Given the description of an element on the screen output the (x, y) to click on. 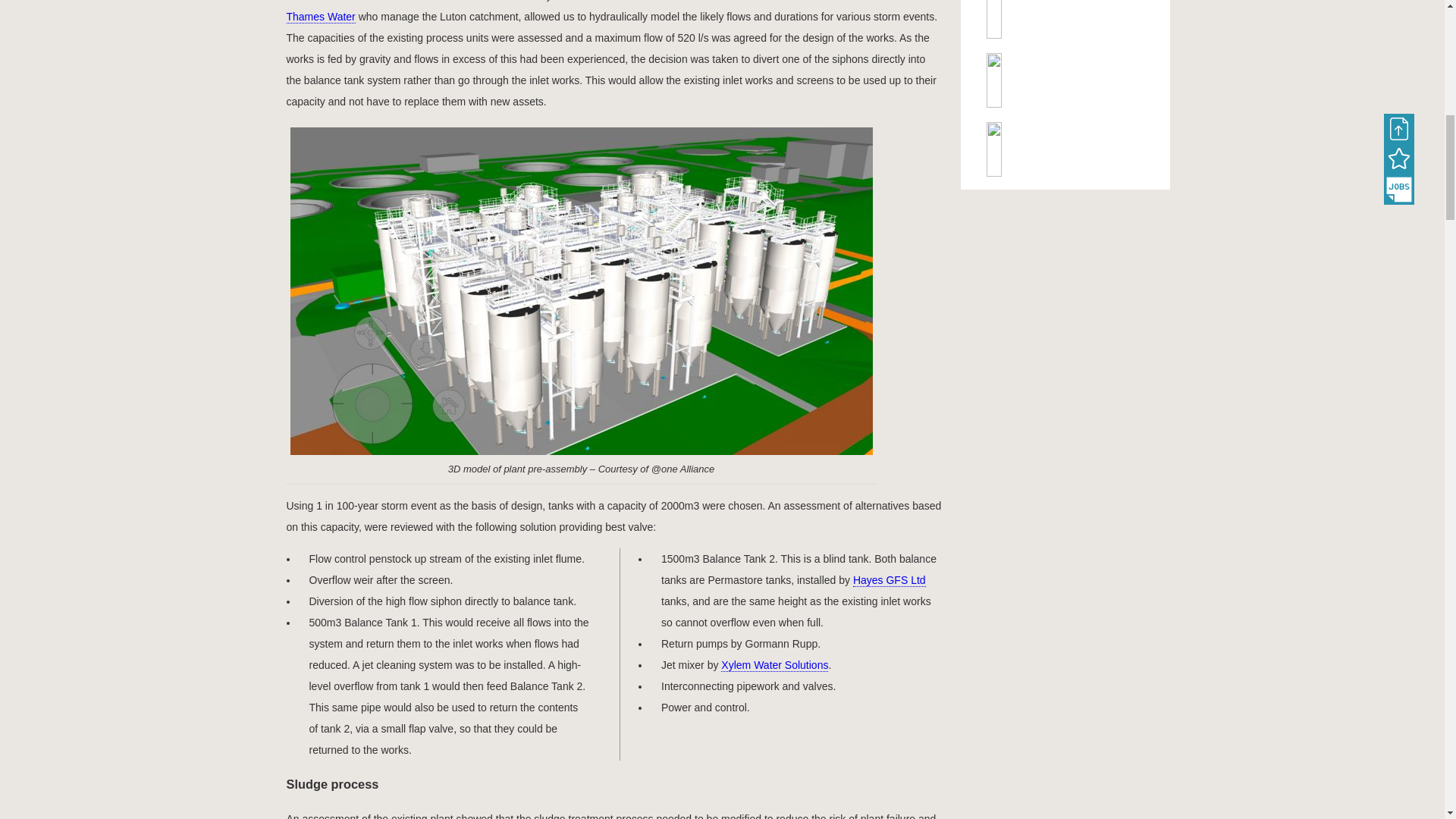
Paktronic Engineering Co Ltd (1064, 81)
MWH Treatment (1064, 23)
Xylem Water Solutions (774, 665)
Hayes GFS Ltd (889, 580)
Thames Water (320, 16)
Xylem Water Solutions UK Ltd (1064, 150)
